Given the description of an element on the screen output the (x, y) to click on. 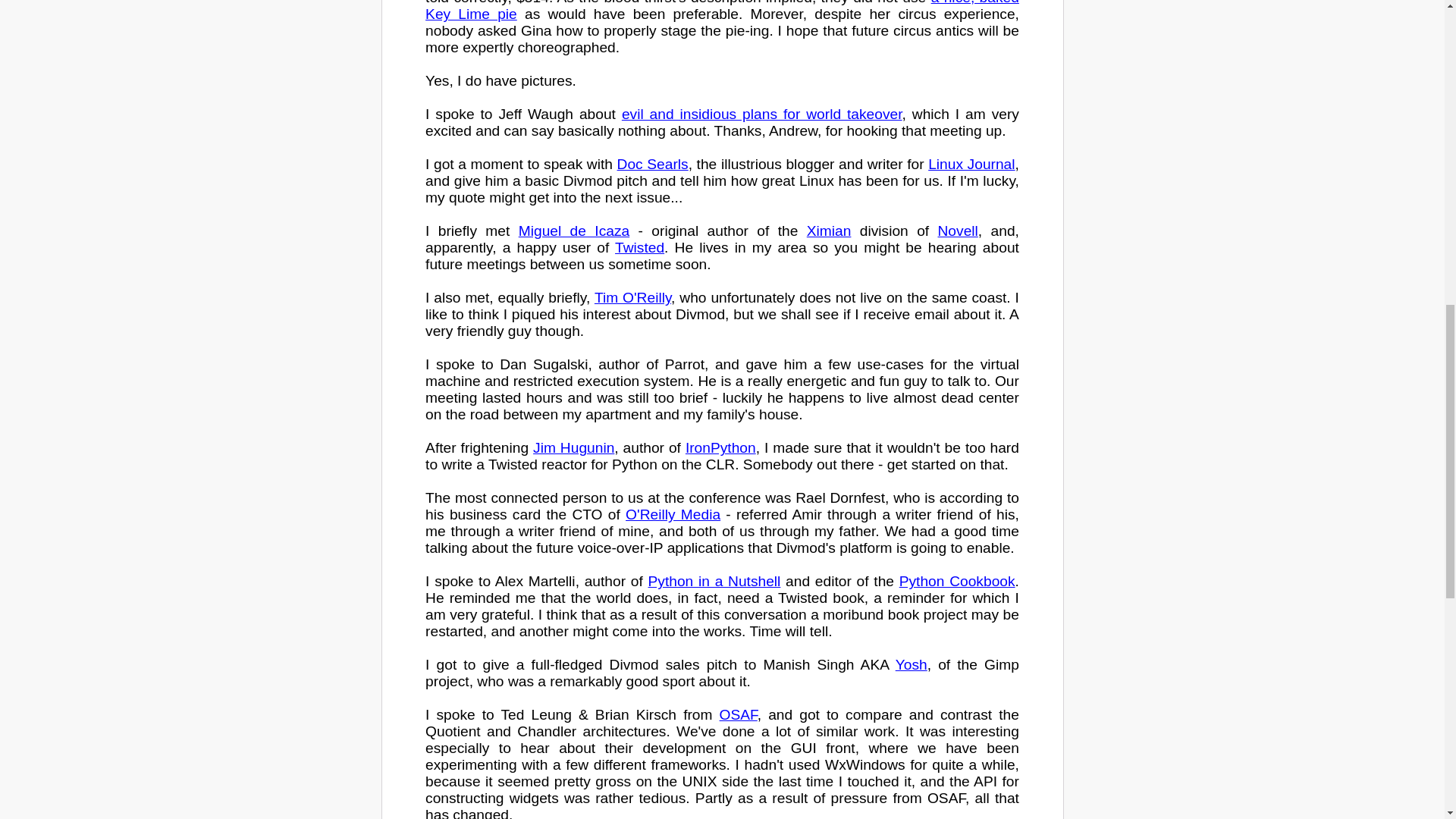
Linux Journal (971, 163)
Python Cookbook (956, 580)
a nice, baked Key Lime pie (722, 11)
Jim Hugunin (573, 447)
Ximian (828, 230)
Miguel de Icaza (573, 230)
OSAF (738, 714)
evil and insidious plans for world takeover (761, 114)
Twisted (638, 247)
O'Reilly Media (673, 514)
